Given the description of an element on the screen output the (x, y) to click on. 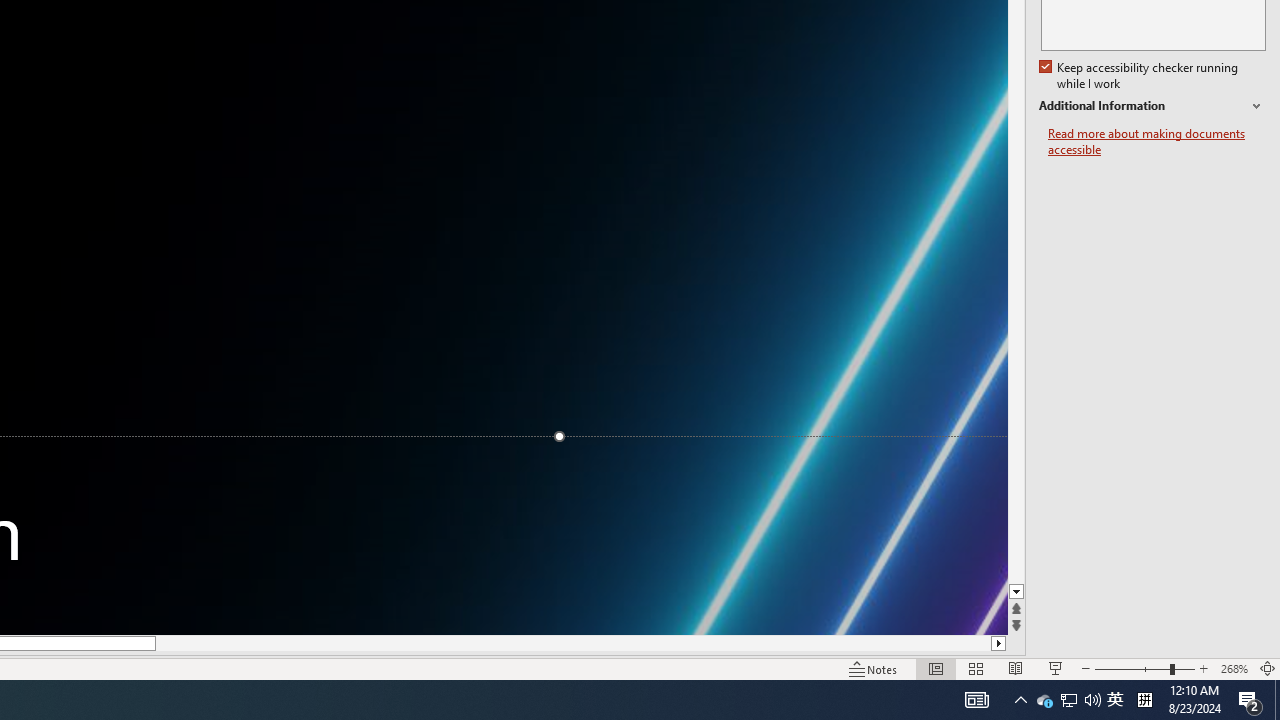
Zoom 268% (1234, 668)
